Given the description of an element on the screen output the (x, y) to click on. 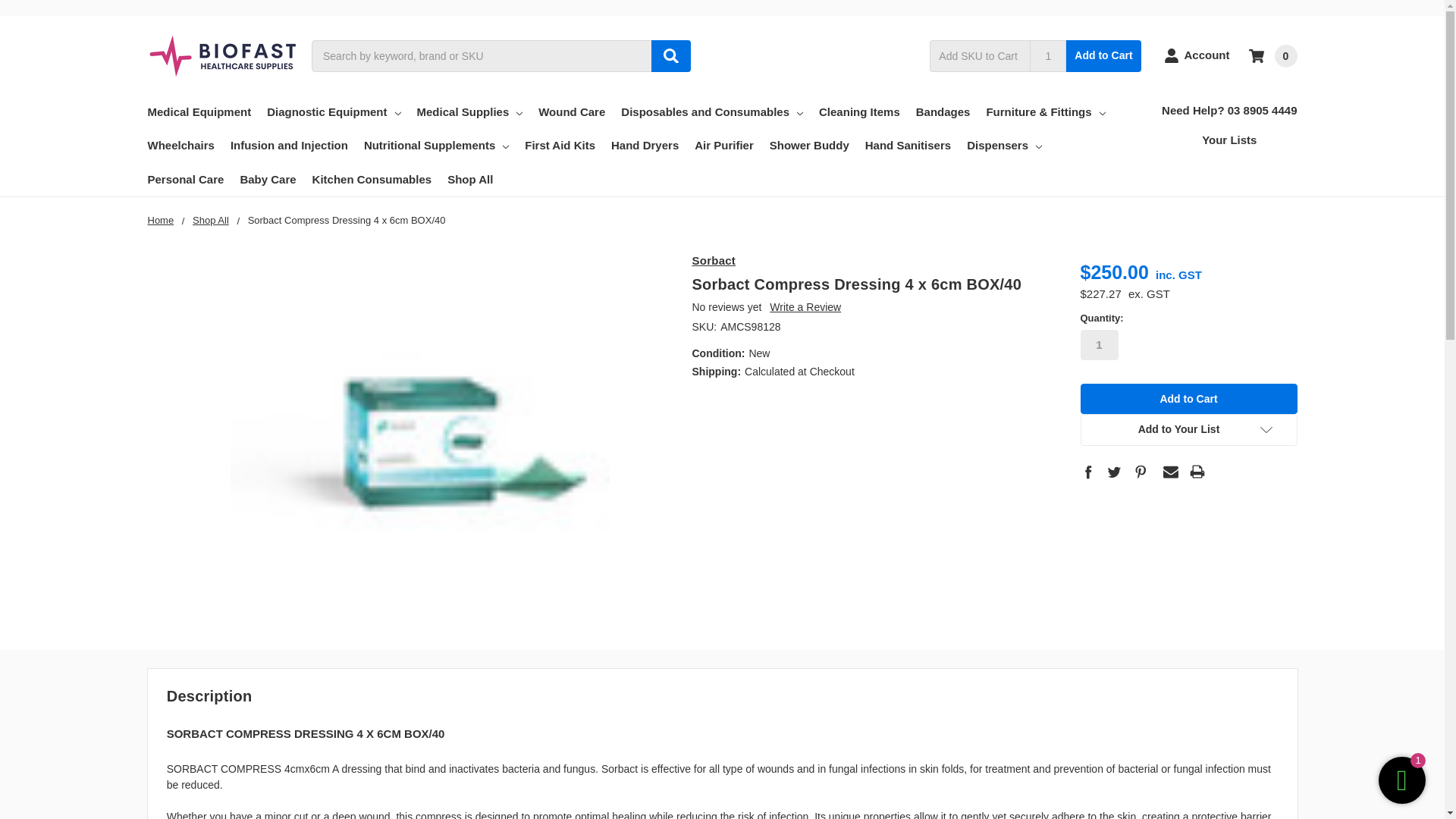
Medical Supplies (469, 111)
1 (1099, 345)
Wound Care (571, 111)
Add to Cart (1102, 55)
Disposables and Consumables (712, 111)
Diagnostic Equipment (333, 111)
1 (1047, 55)
Biofast Healthcare Supplies (222, 55)
Excluding Tax (1147, 293)
Add to Cart (1188, 399)
